Given the description of an element on the screen output the (x, y) to click on. 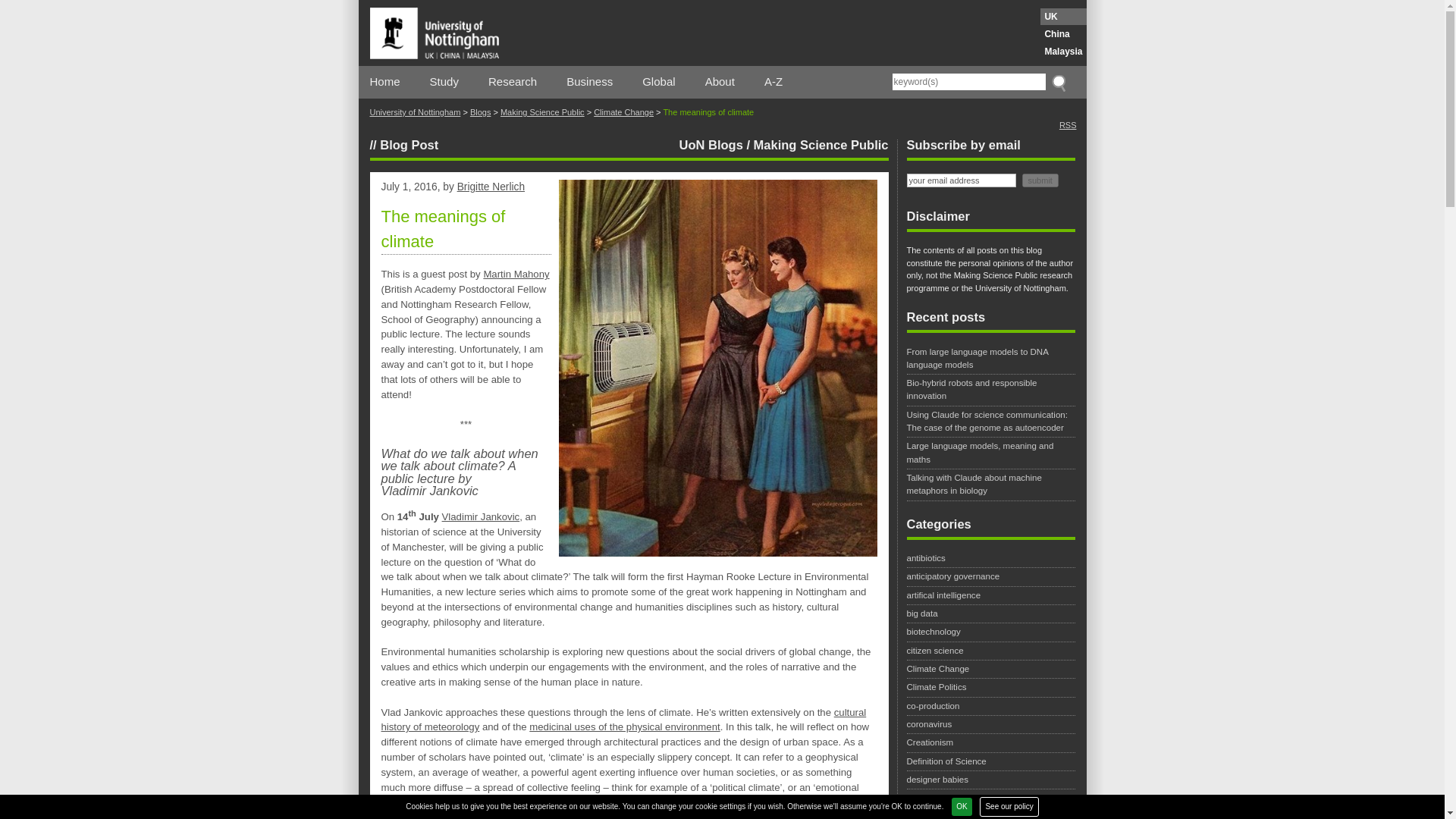
Vladimir Jankovic (480, 516)
your email address (961, 179)
Brigitte Nerlich (490, 186)
OK (961, 806)
Malaysia (1063, 51)
Making Science Public (542, 112)
China (1063, 33)
Research (512, 81)
Martin Mahony (515, 274)
submit (1040, 179)
